Given the description of an element on the screen output the (x, y) to click on. 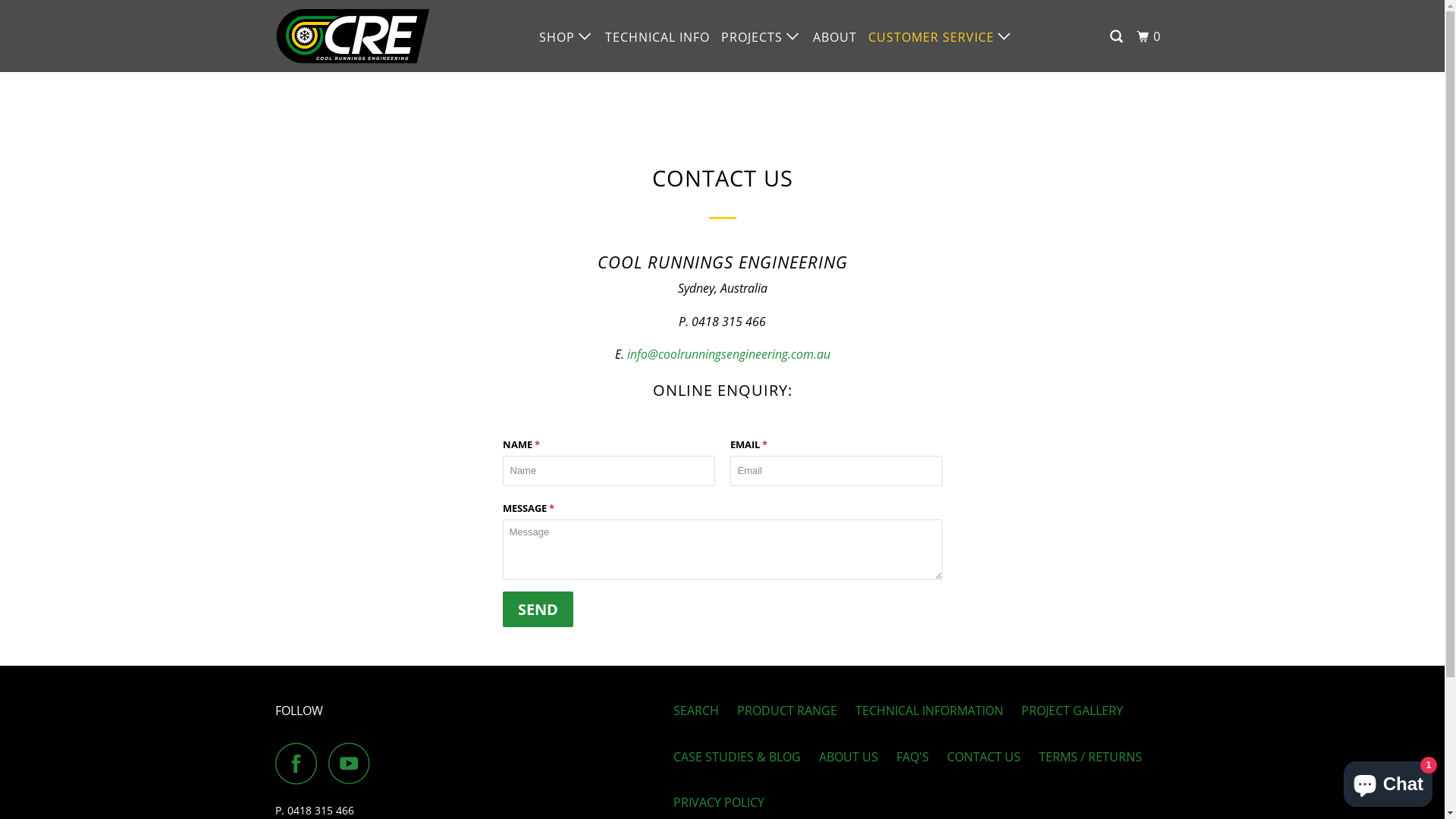
Search Element type: hover (1117, 36)
cool runnings engineering on YouTube Element type: hover (352, 763)
ABOUT US Element type: text (848, 757)
info@coolrunningsengineering.com.au Element type: text (727, 353)
cool runnings engineering Element type: hover (351, 36)
0 Element type: text (1150, 36)
Send Element type: text (537, 609)
cool runnings engineering on Facebook Element type: hover (299, 763)
CUSTOMER SERVICE Element type: text (940, 36)
TECHNICAL INFO Element type: text (657, 36)
SHOP Element type: text (566, 36)
CASE STUDIES & BLOG Element type: text (736, 757)
PRIVACY POLICY Element type: text (718, 802)
FAQ'S Element type: text (912, 757)
ABOUT Element type: text (834, 36)
CONTACT US Element type: text (982, 757)
TERMS / RETURNS Element type: text (1090, 757)
Shopify online store chat Element type: hover (1388, 780)
PROJECTS Element type: text (761, 36)
TECHNICAL INFORMATION Element type: text (929, 710)
PROJECT GALLERY Element type: text (1071, 710)
PRODUCT RANGE Element type: text (787, 710)
SEARCH Element type: text (695, 710)
